Given the description of an element on the screen output the (x, y) to click on. 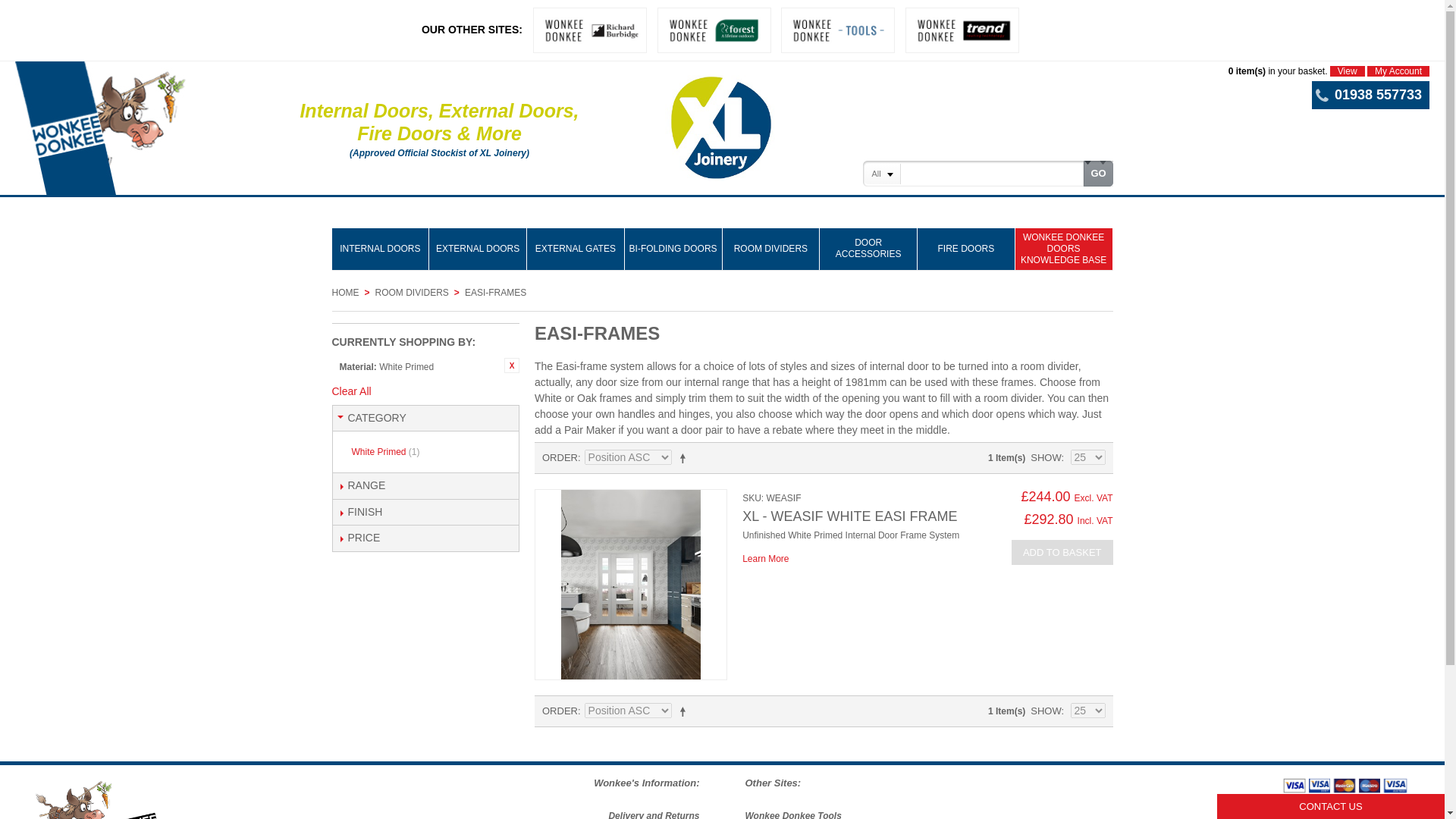
Go (1097, 173)
XL - WEASIF White Easi Frame (849, 516)
Sort By (628, 457)
Results per page (1087, 710)
Add to Basket (1062, 552)
Go to Home Page (345, 292)
Remove This Item (511, 365)
EXTERNAL GATES (575, 248)
XL - WEASIF White Easi Frame (765, 558)
My Account (1398, 71)
Delivery and Returns (653, 814)
Sort By (628, 710)
View (1347, 71)
GO (1097, 173)
INTERNAL DOORS (380, 248)
